Given the description of an element on the screen output the (x, y) to click on. 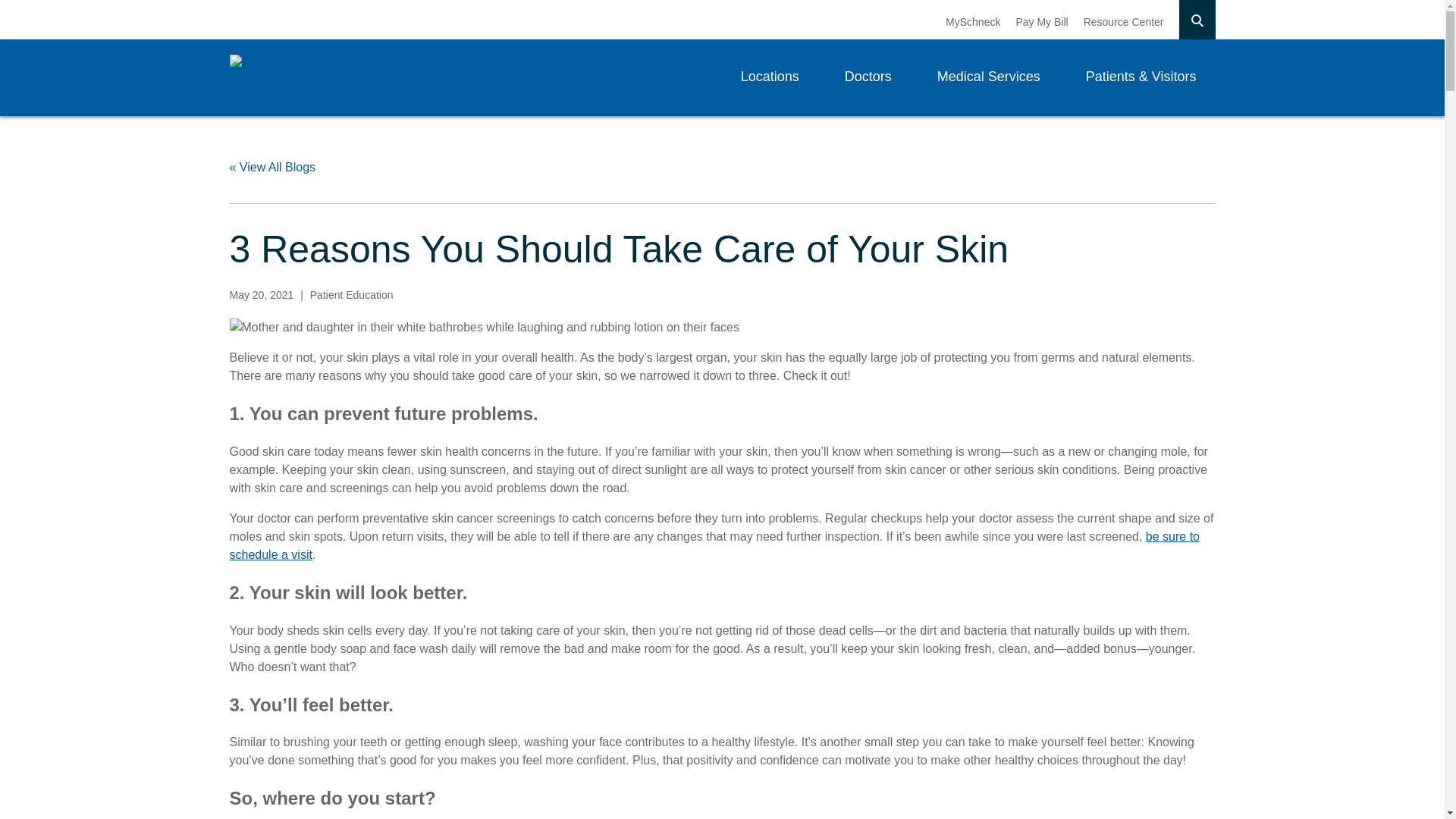
Resource Center (1123, 21)
be sure to schedule a visit (713, 545)
Locations (770, 76)
Doctors (868, 76)
Pay My Bill (1040, 21)
MySchneck (972, 21)
Medical Services (988, 76)
